Given the description of an element on the screen output the (x, y) to click on. 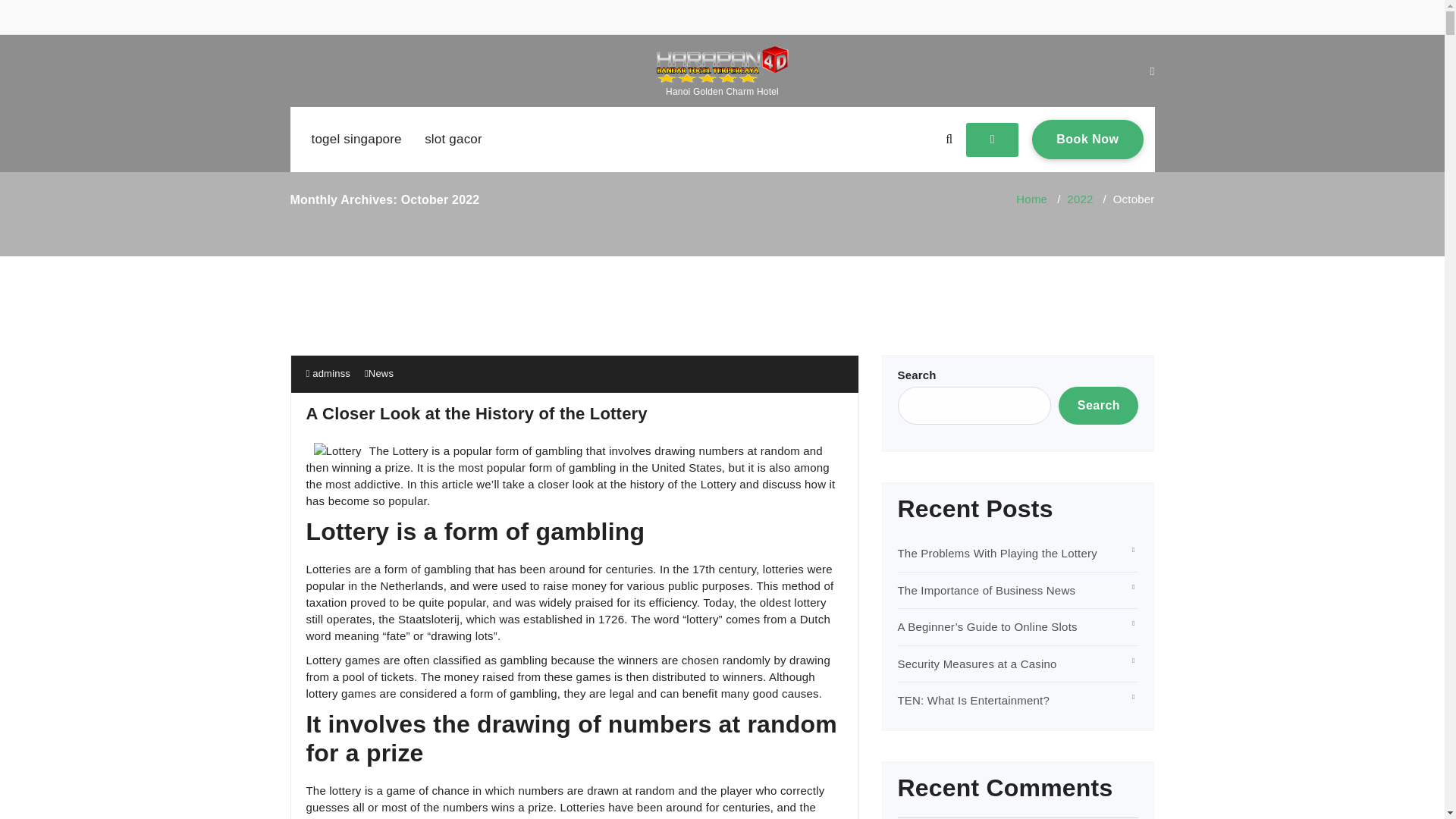
Book Now (1087, 138)
adminss (327, 373)
slot gacor (453, 139)
A Closer Look at the History of the Lottery (476, 413)
2022 (1080, 198)
togel singapore (355, 139)
News (380, 373)
Home (1031, 198)
